Given the description of an element on the screen output the (x, y) to click on. 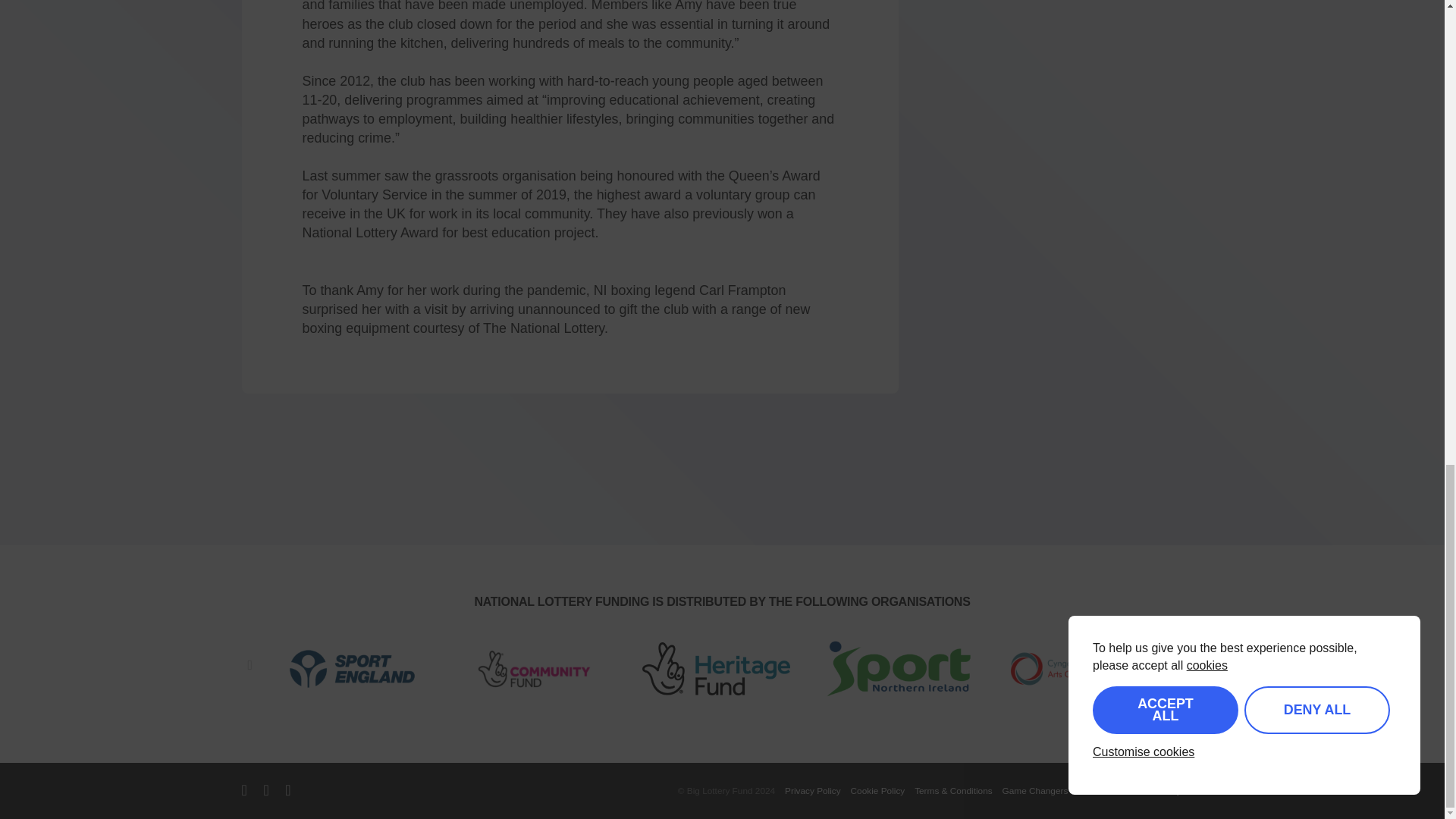
Twitter (243, 789)
Instagram (287, 789)
Facebook (265, 789)
